Given the description of an element on the screen output the (x, y) to click on. 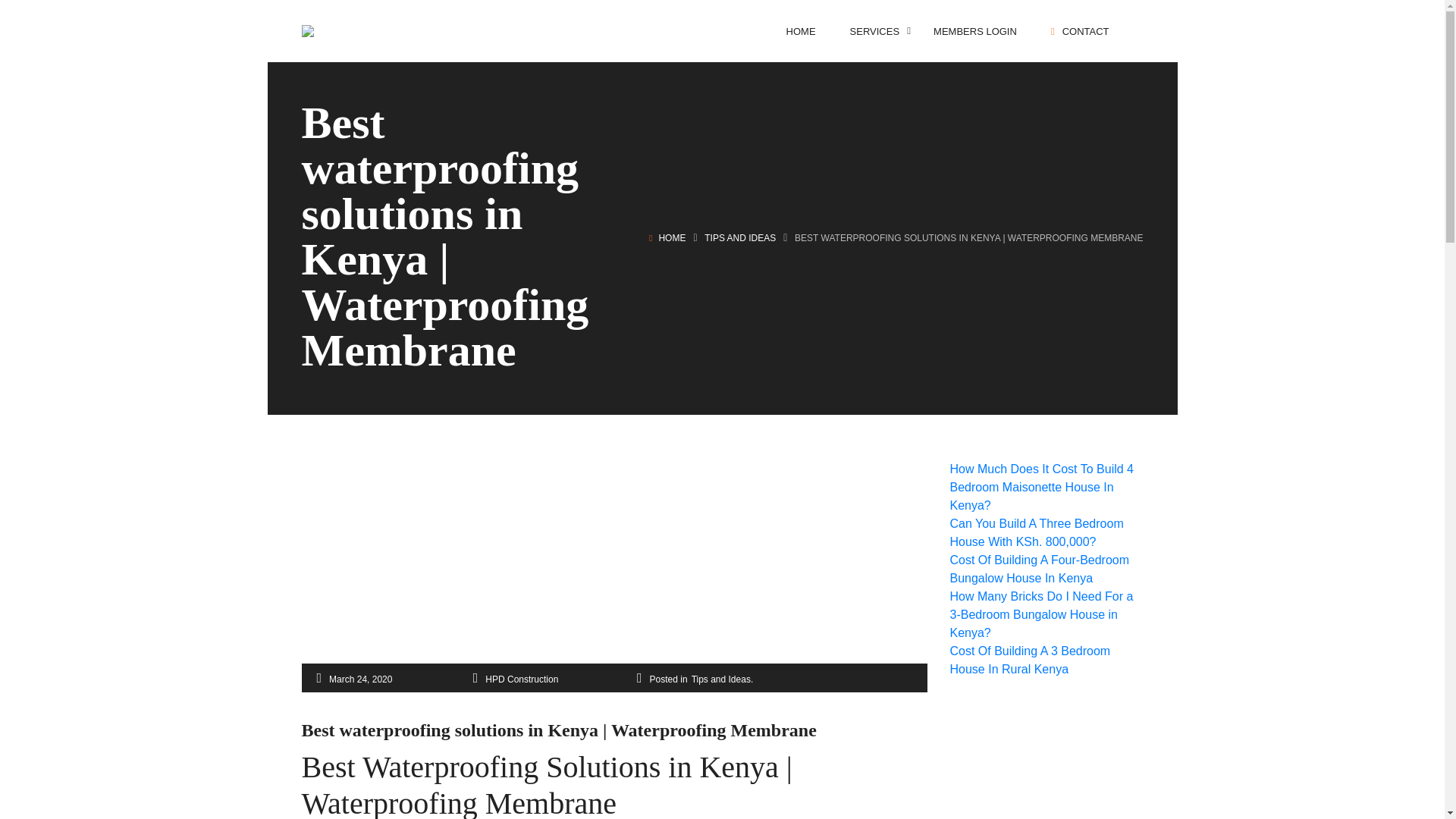
TIPS AND IDEAS (740, 237)
MEMBERS LOGIN (974, 30)
HPD Construction (520, 679)
Tips and Ideas (721, 679)
SERVICES (874, 30)
Tips and Ideas (721, 679)
HOME (800, 30)
HOME (671, 237)
March 24, 2020 (360, 679)
CONTACT (1080, 30)
Tips and Ideas (740, 237)
